Given the description of an element on the screen output the (x, y) to click on. 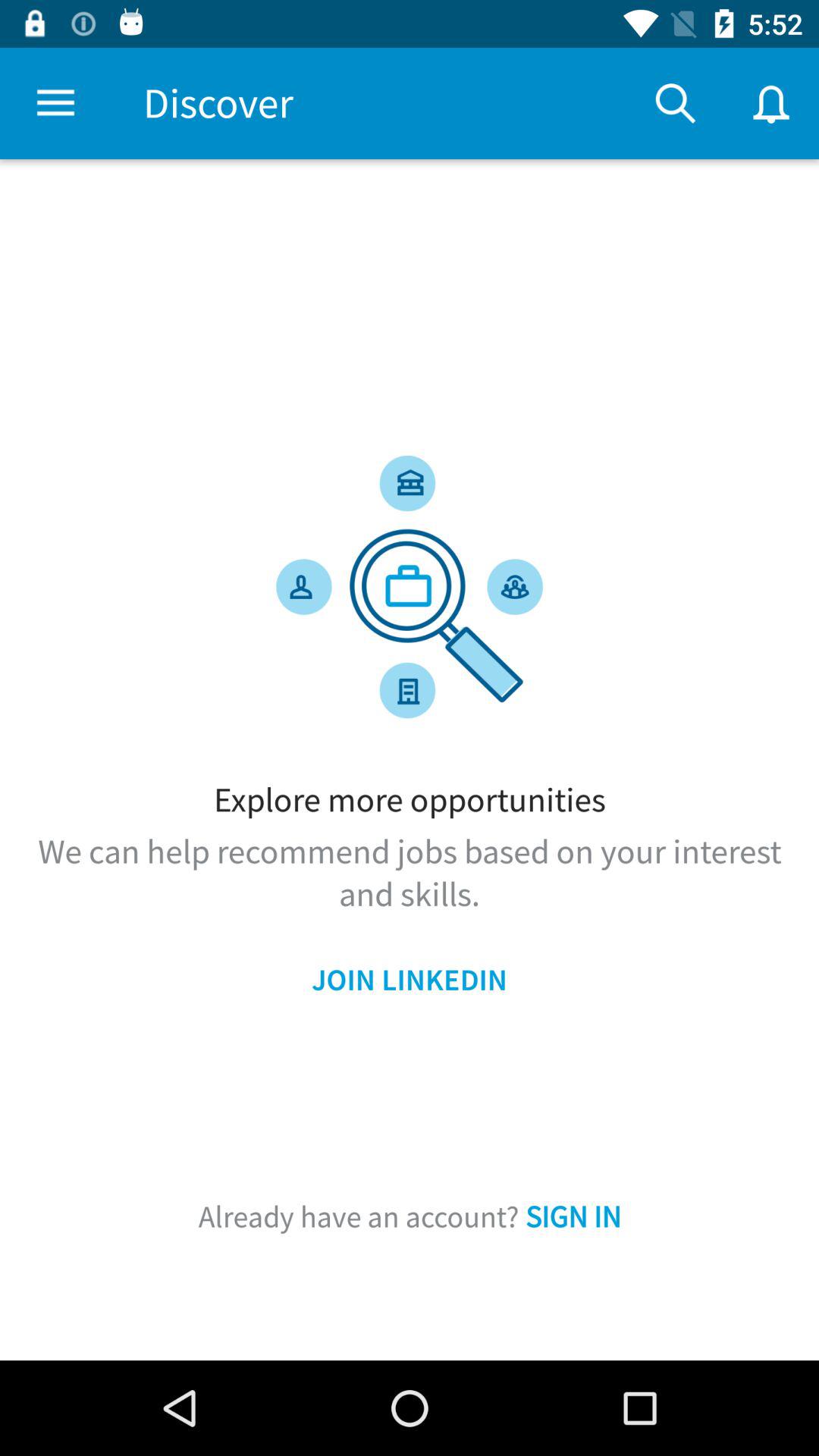
choose already have an item (409, 1216)
